Given the description of an element on the screen output the (x, y) to click on. 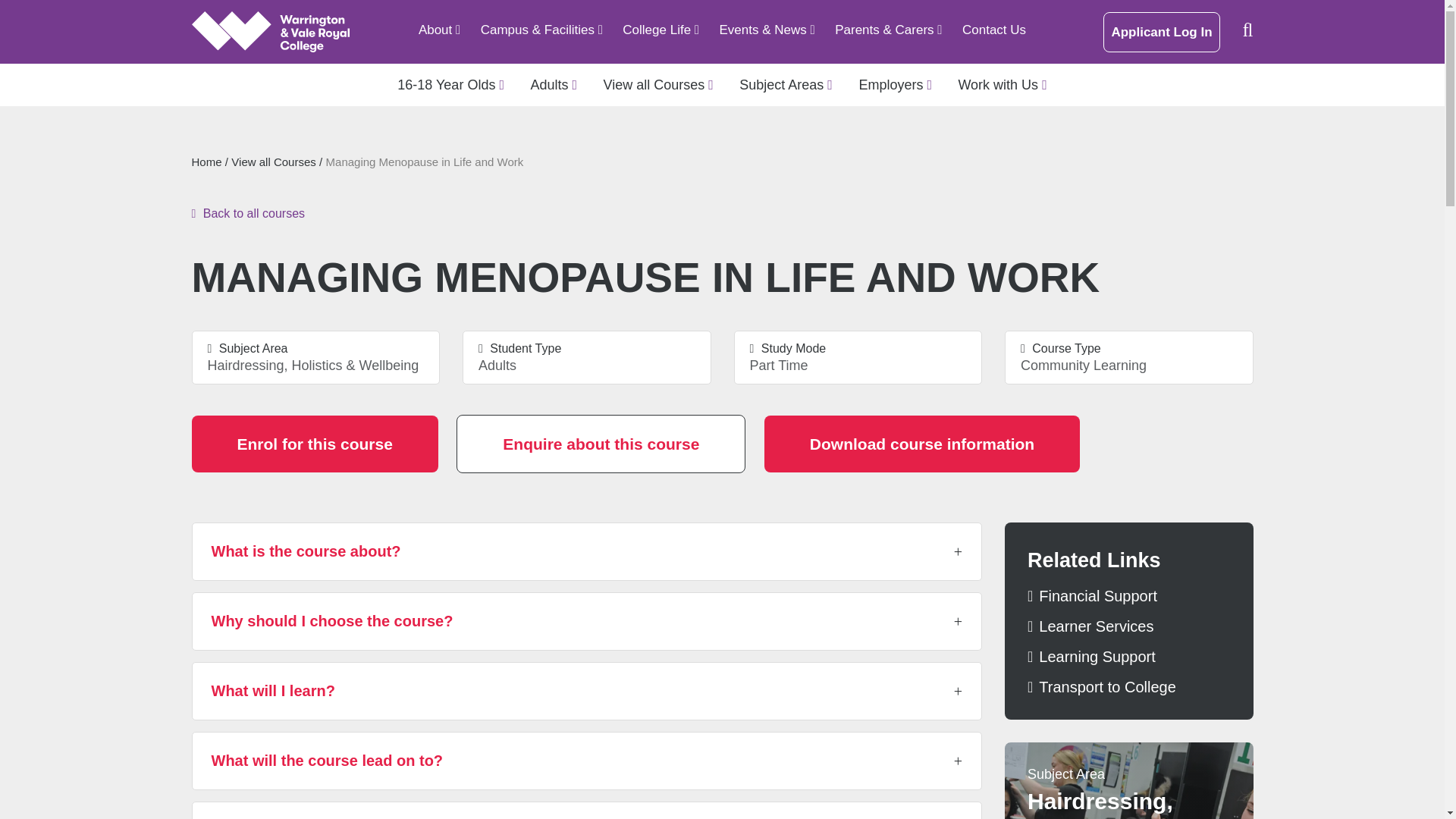
Managing Menopause in Life and Work (660, 29)
Link Home (269, 31)
College Life (660, 29)
Managing Menopause in Life and Work (541, 29)
